Given the description of an element on the screen output the (x, y) to click on. 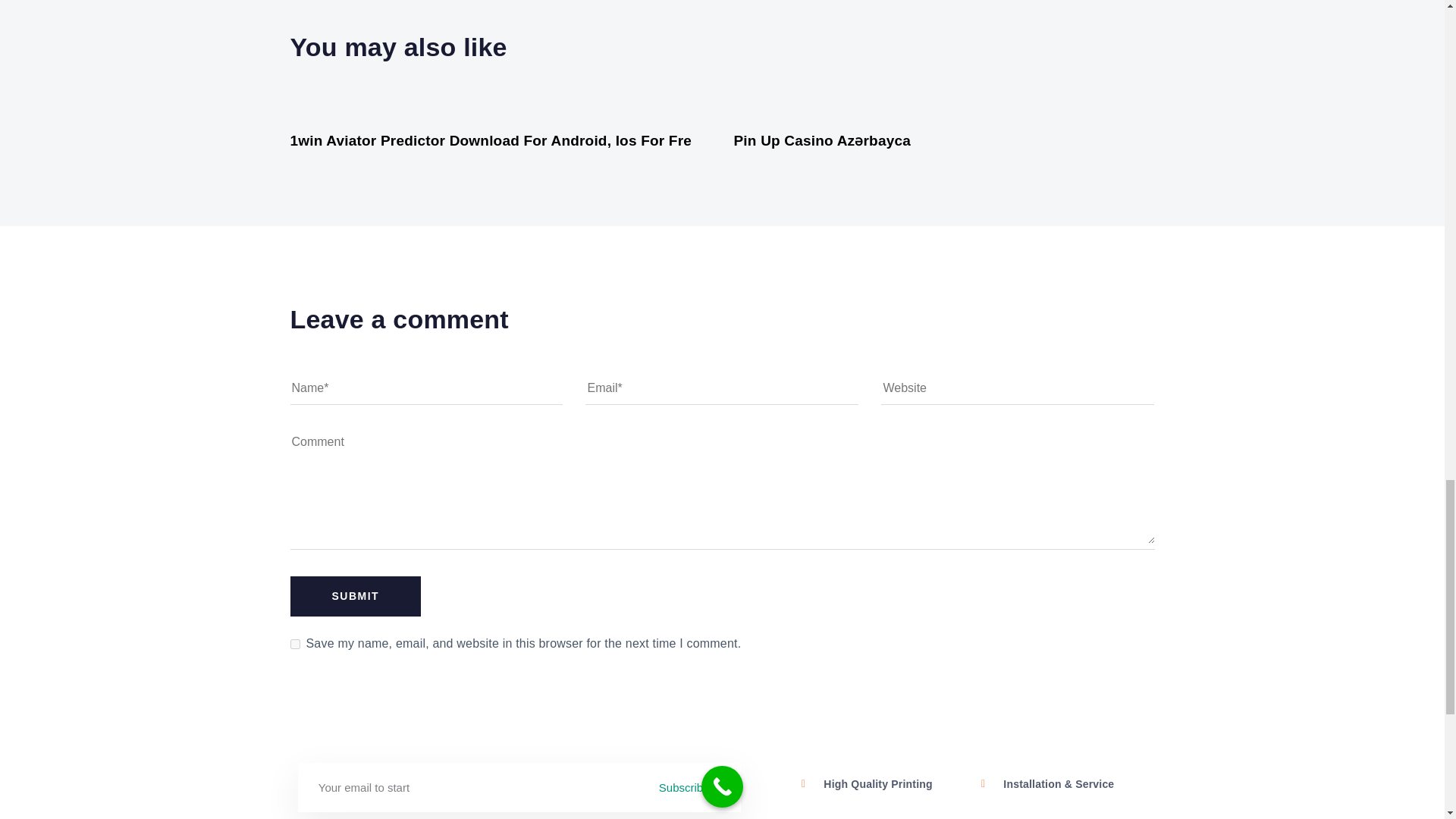
yes (294, 644)
1win Aviator Predictor Download For Android, Ios For Fre (490, 140)
Submit (354, 596)
Subscribe (700, 787)
Submit (354, 596)
